Given the description of an element on the screen output the (x, y) to click on. 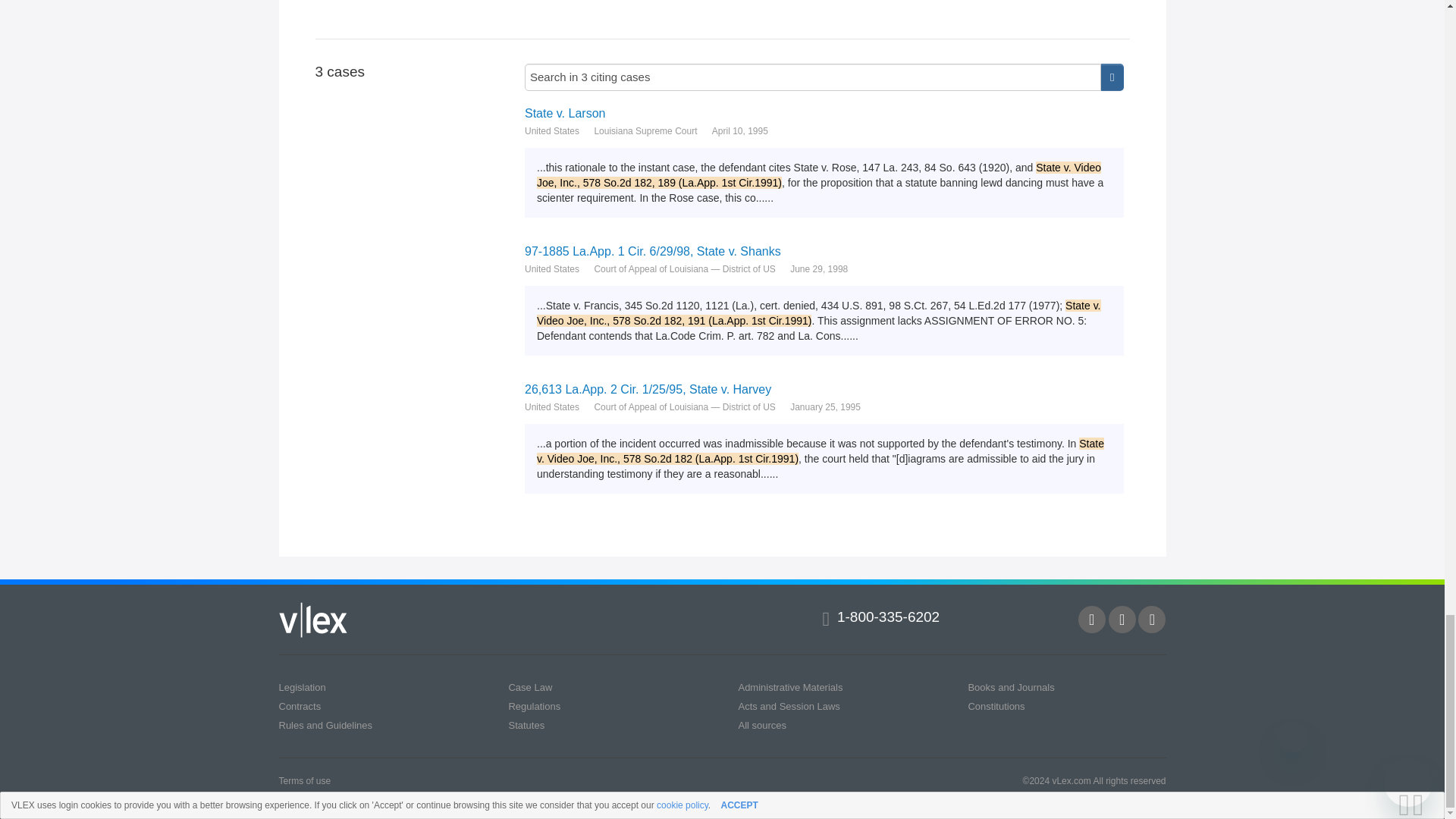
Contracts (300, 706)
United States (551, 406)
Case Law (529, 686)
January 25, 1995 (825, 406)
State v. Larson (824, 113)
vLex (313, 619)
Statutes (526, 725)
State v. Larson (824, 113)
Administrative Materials (790, 686)
Regulations (534, 706)
Legislation (302, 686)
Constitutions (996, 706)
Acts and Session Laws (789, 706)
Rules and Guidelines (325, 725)
April 10, 1995 (739, 130)
